Given the description of an element on the screen output the (x, y) to click on. 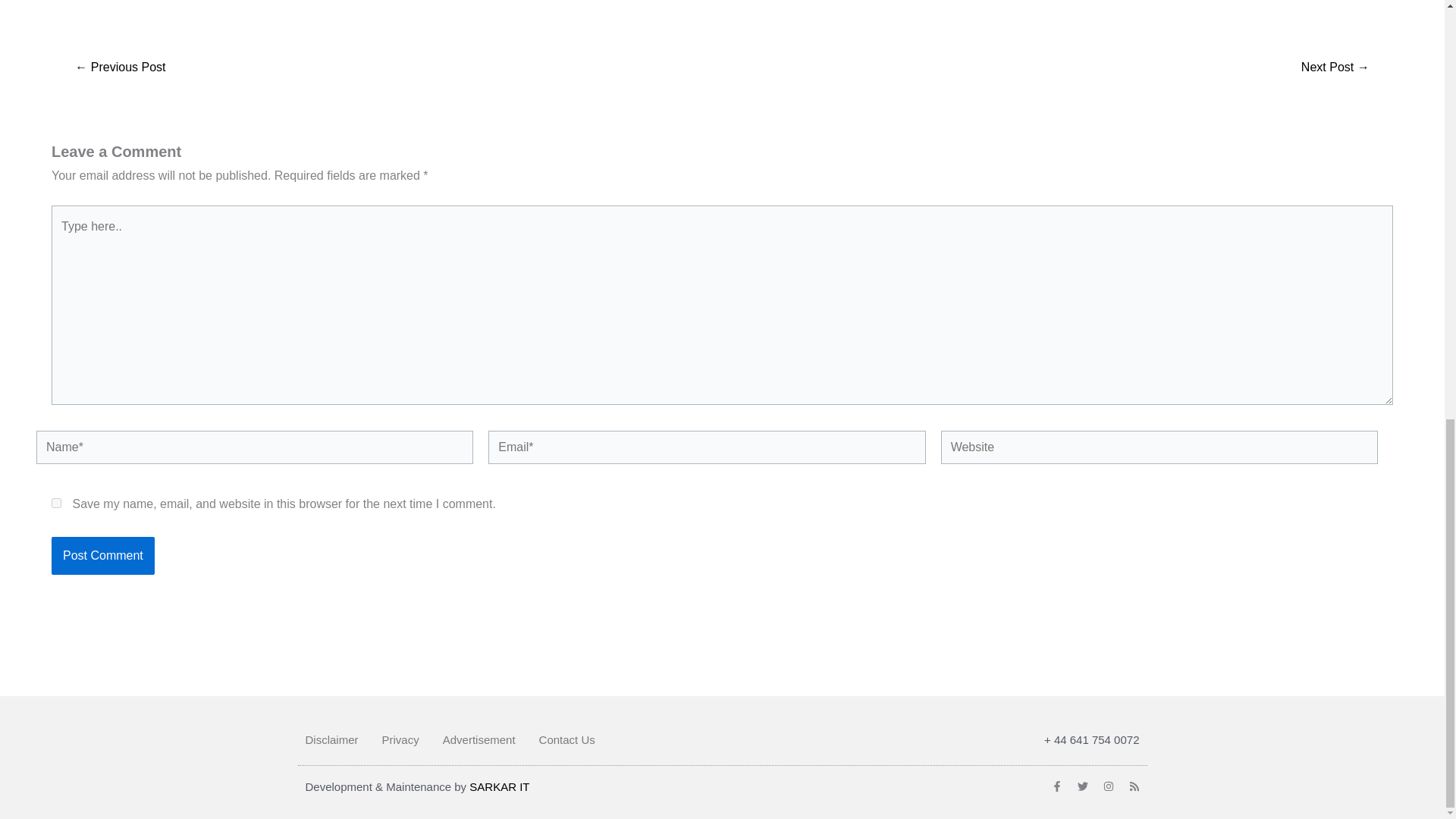
Post Comment (102, 555)
10 Best Free Sites Like Craigslist Personals 2023 Reviews (119, 67)
yes (55, 502)
I Uncovered An Army Of Fake Men On Hinge (1334, 67)
